Given the description of an element on the screen output the (x, y) to click on. 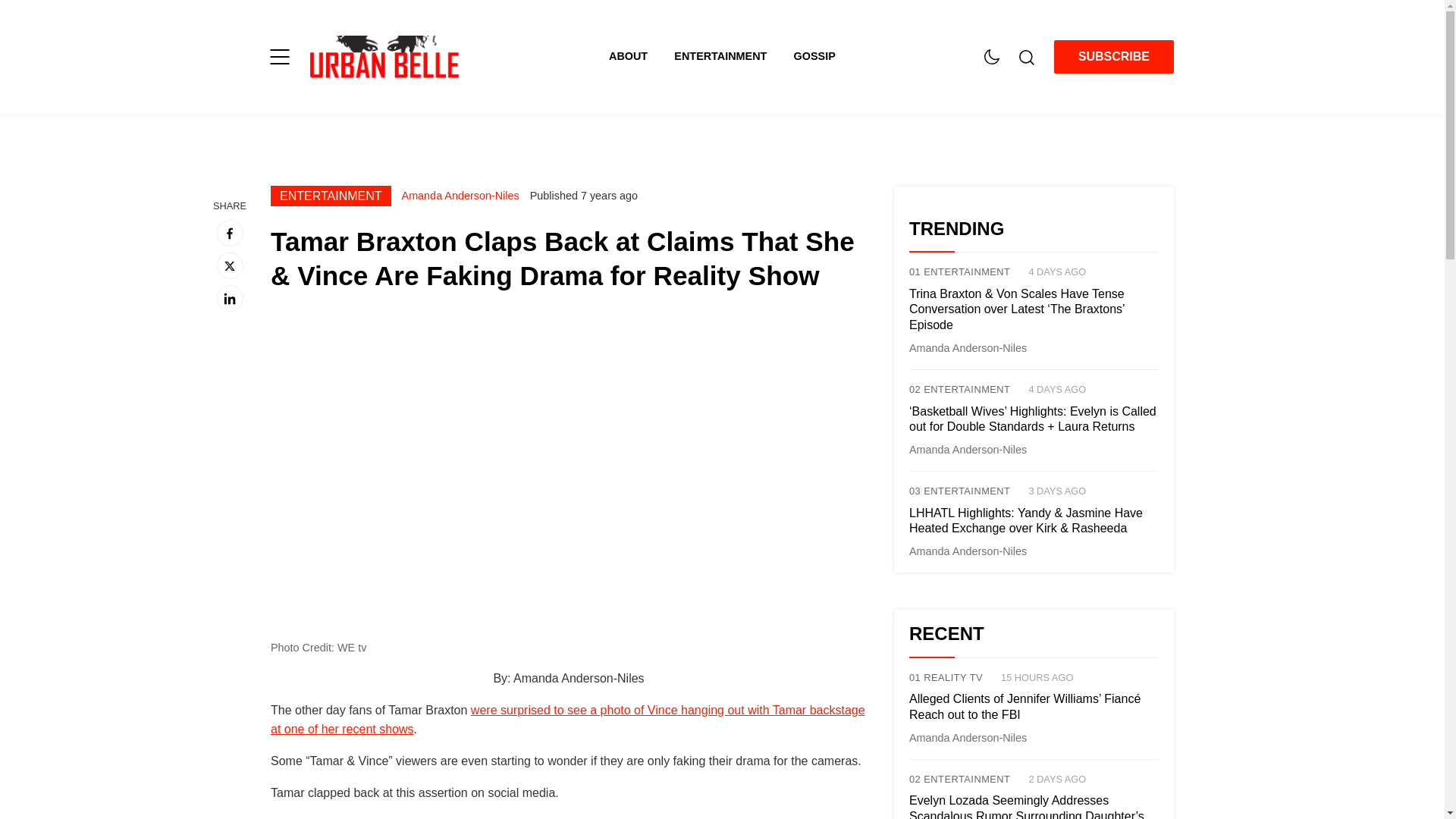
ENTERTAINMENT (330, 195)
Amanda Anderson-Niles (460, 195)
SUBSCRIBE (1113, 56)
Posts by Amanda Anderson-Niles (967, 551)
SUBSCRIBE (1113, 57)
Posts by Amanda Anderson-Niles (460, 195)
ENTERTAINMENT (733, 56)
ABOUT (641, 56)
Posts by Amanda Anderson-Niles (967, 347)
